Given the description of an element on the screen output the (x, y) to click on. 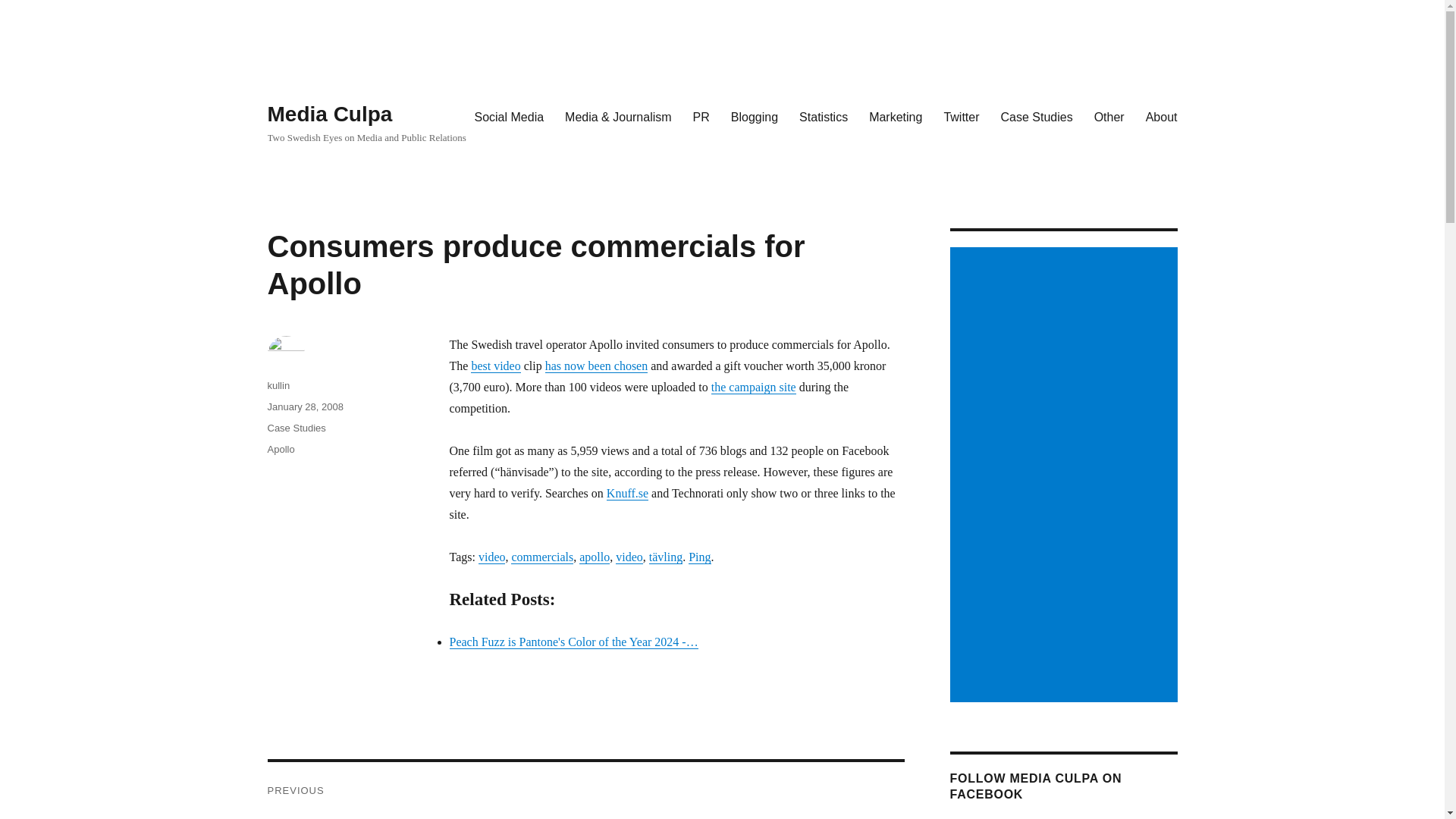
Ping (699, 556)
commercials (542, 556)
Apollo (280, 449)
best video (494, 365)
About (1161, 116)
Marketing (896, 116)
apollo (594, 556)
January 28, 2008 (304, 406)
video (629, 556)
FOLLOW MEDIA CULPA ON FACEBOOK (1035, 786)
has now been chosen (595, 365)
Twitter (961, 116)
Case Studies (1036, 116)
Blogging (754, 116)
